Given the description of an element on the screen output the (x, y) to click on. 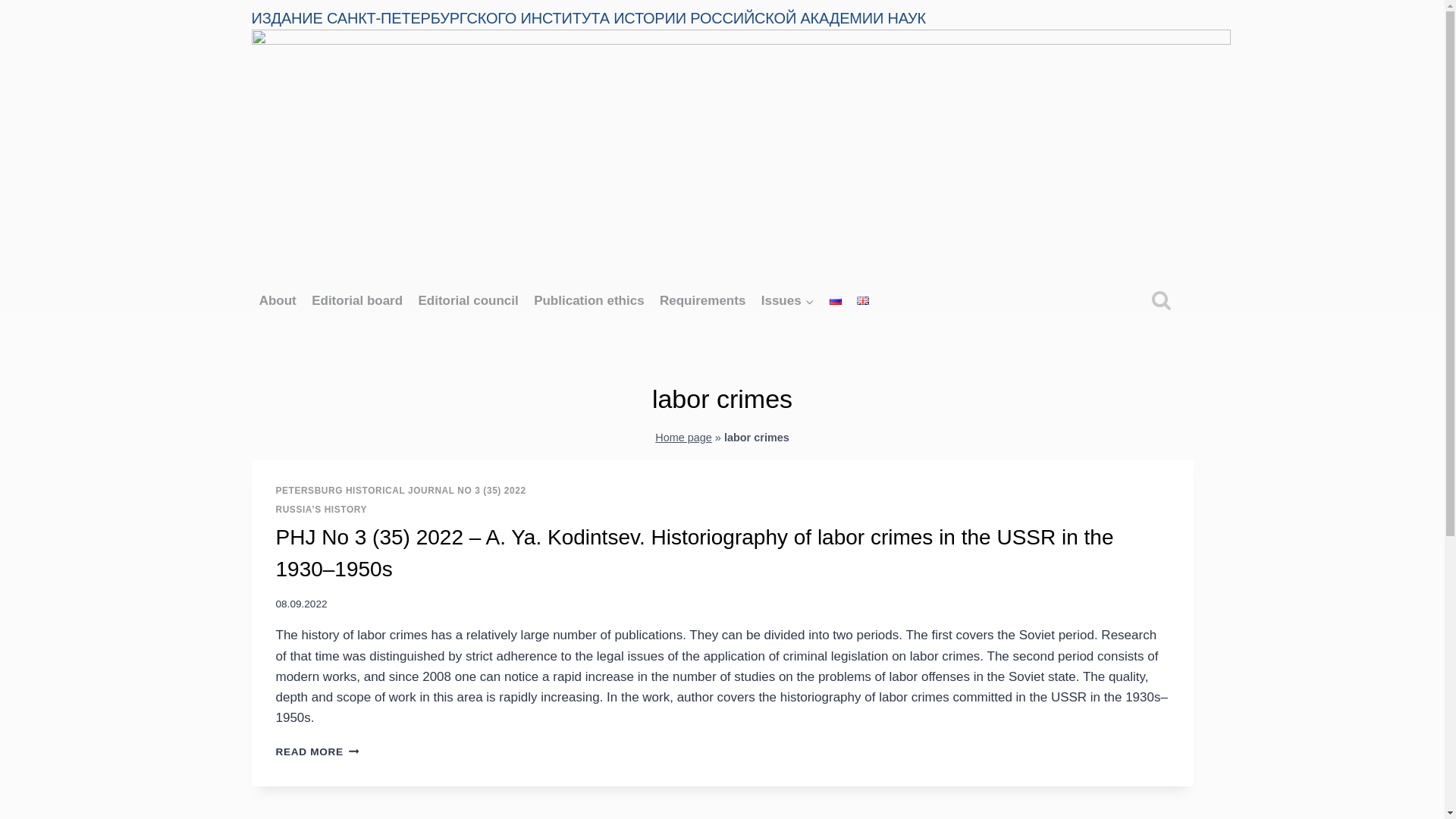
Requirements for presented materials (703, 300)
Magazine archive (788, 300)
Publication ethics (588, 300)
Home page (683, 437)
Editorial council (467, 300)
Publication ethics (588, 300)
Editorial board (357, 300)
Editorial board (357, 300)
Requirements (703, 300)
Editorial council (467, 300)
About (277, 300)
Issues (788, 300)
